Given the description of an element on the screen output the (x, y) to click on. 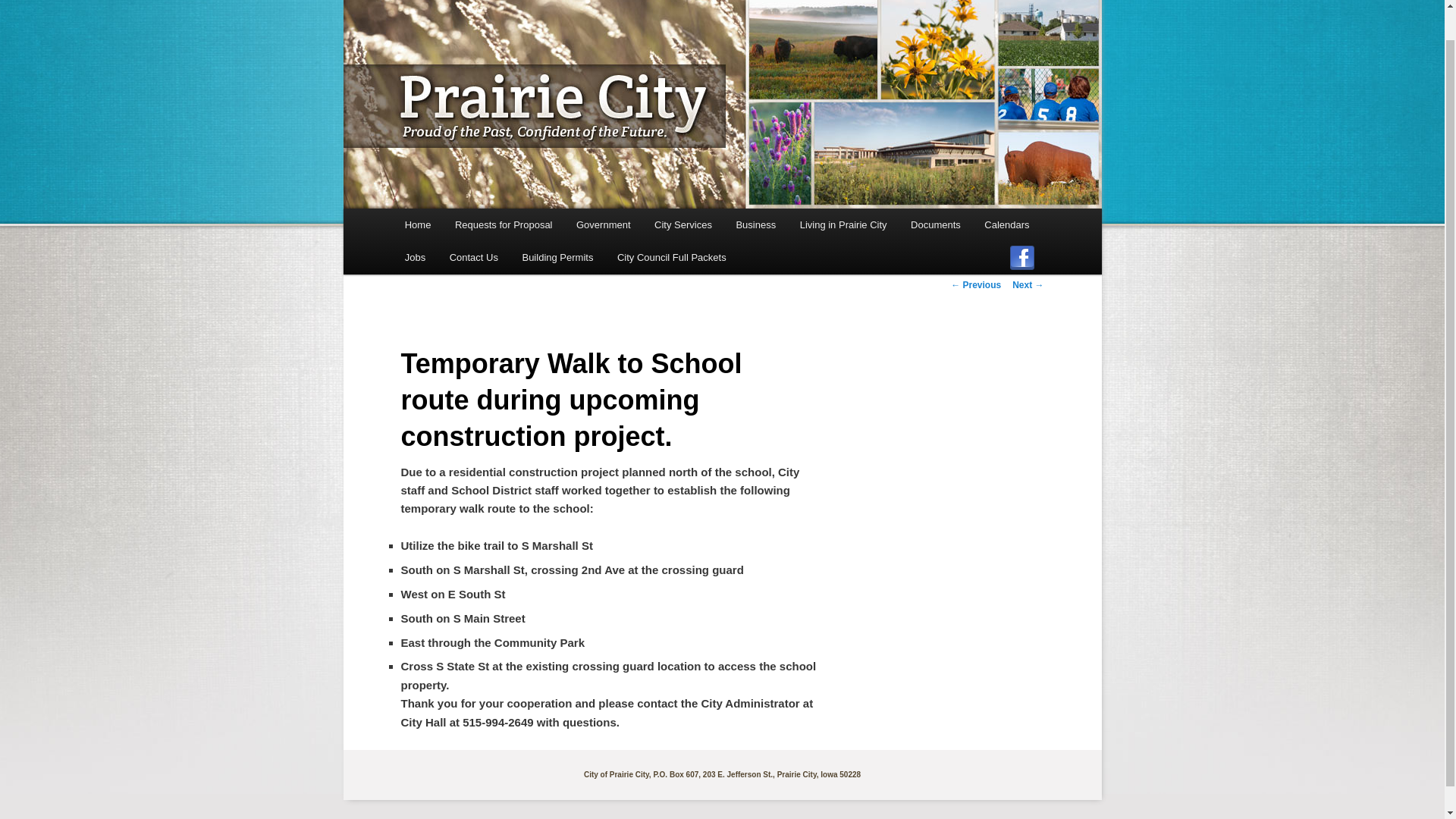
Documents (935, 224)
Government (603, 224)
Living in Prairie City (842, 224)
Requests for Proposal (503, 224)
Business (755, 224)
City Services (682, 224)
Prairie City (459, 44)
Prairie City (459, 44)
Home (417, 224)
